Given the description of an element on the screen output the (x, y) to click on. 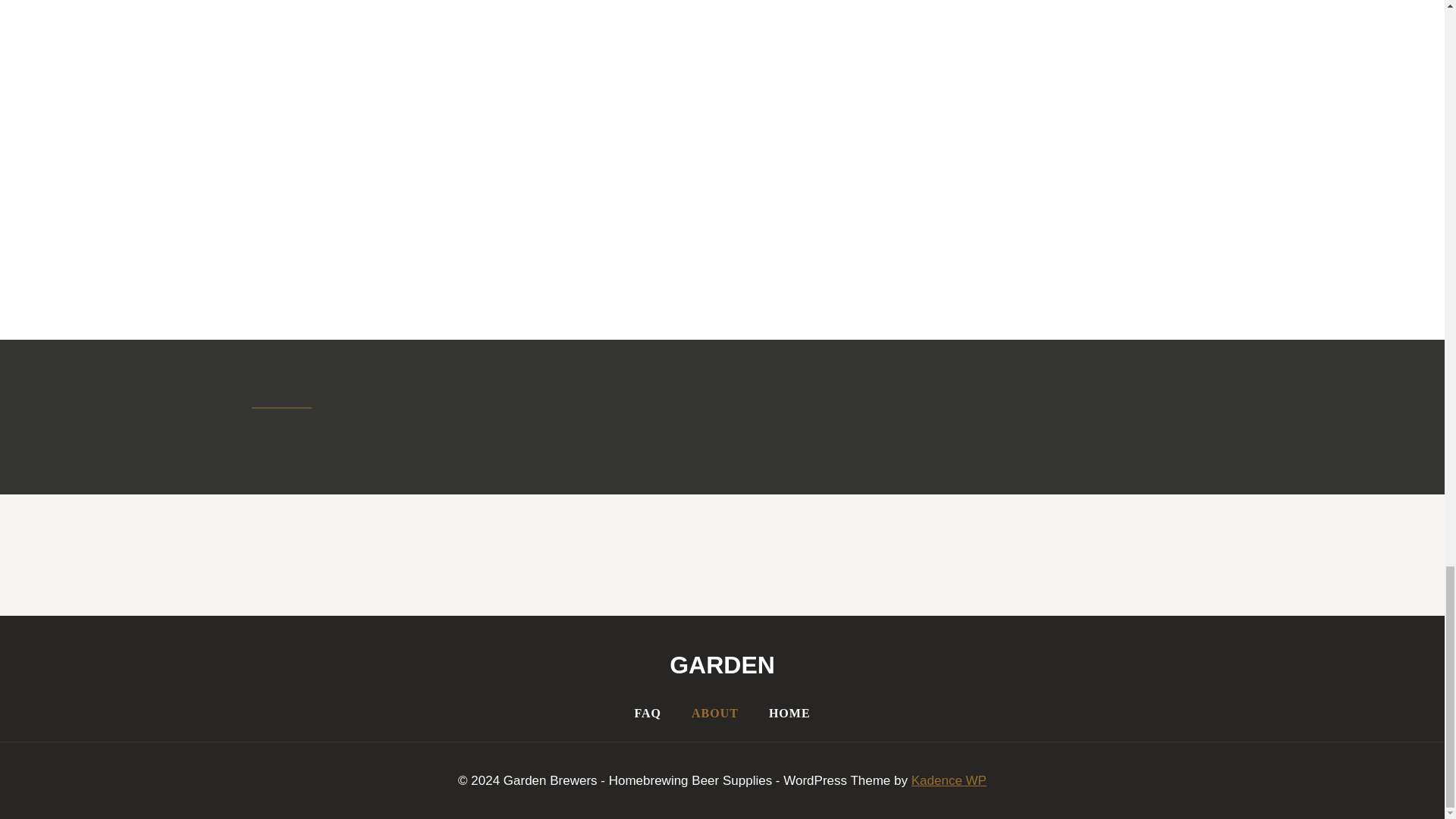
FAQ (647, 713)
Kadence WP (949, 780)
ABOUT (715, 713)
HOME (789, 713)
